Given the description of an element on the screen output the (x, y) to click on. 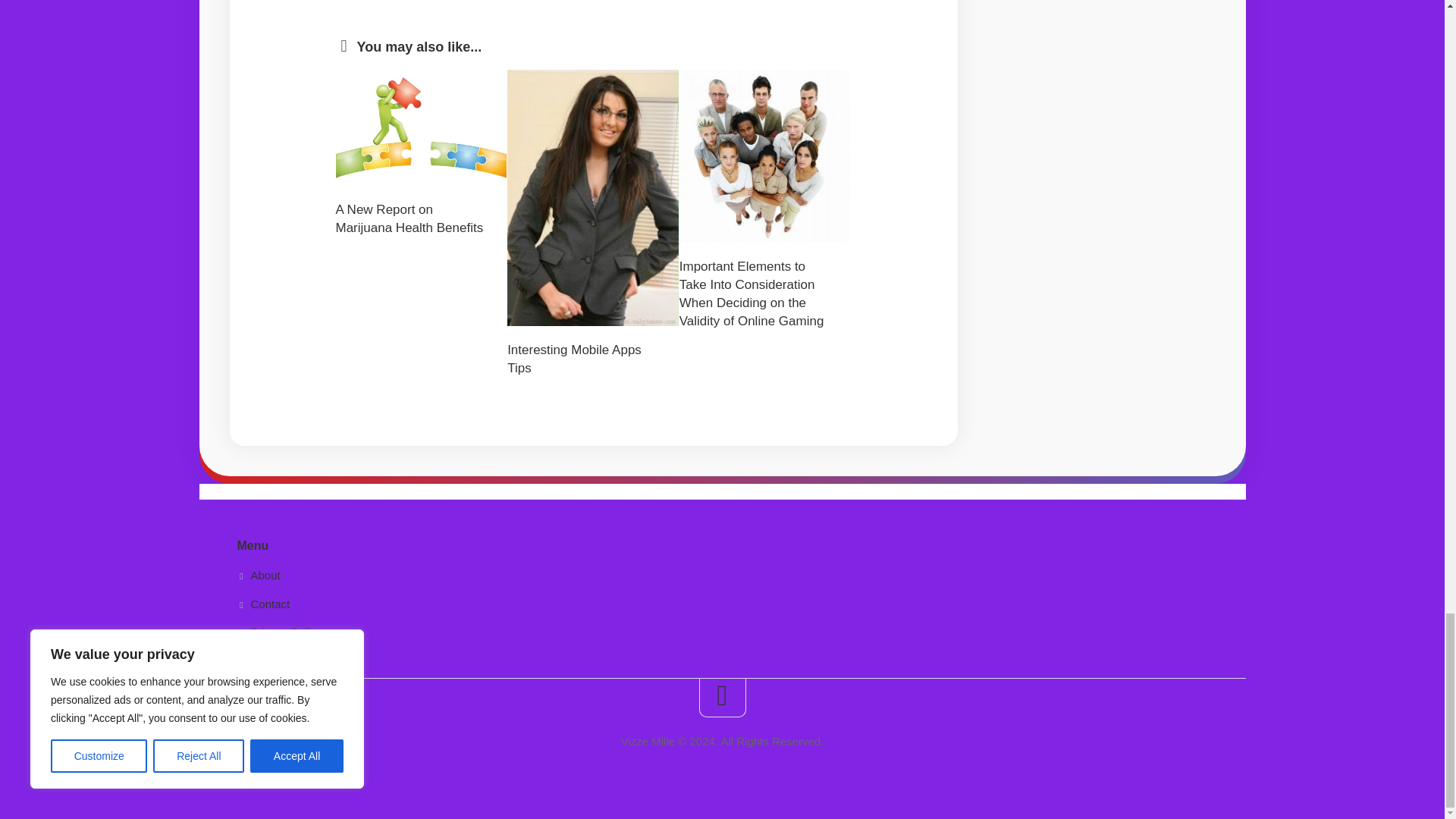
Interesting Mobile Apps Tips (574, 359)
A New Report on Marijuana Health Benefits (408, 218)
